Given the description of an element on the screen output the (x, y) to click on. 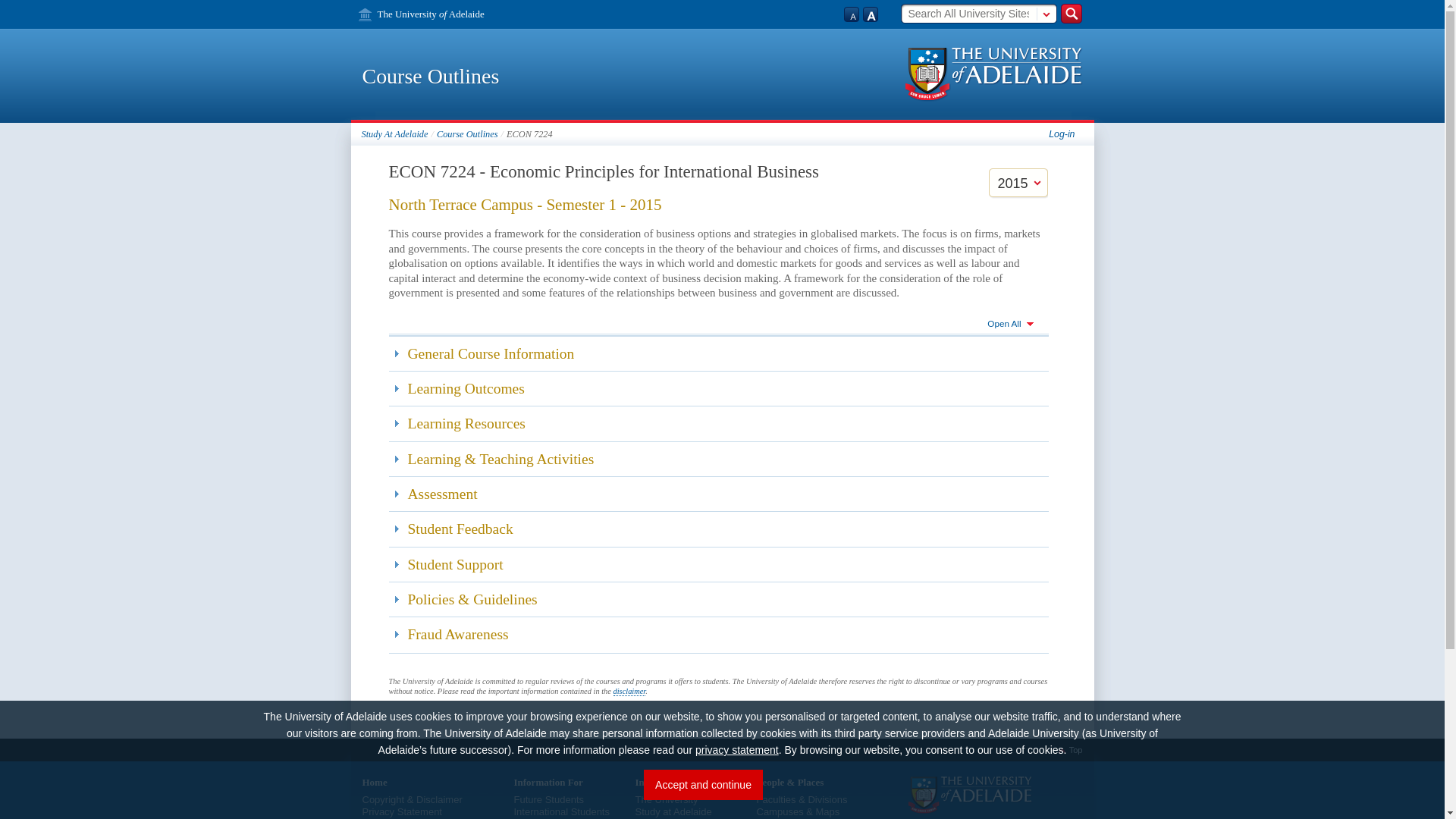
The University of Adelaide (420, 14)
Course Outlines (466, 133)
Copyright Information (383, 799)
Study At Adelaide (394, 133)
The University of Adelaide (420, 14)
Increase Font Size (870, 12)
Search (1071, 12)
Website Disclaimer (439, 799)
Search All University Sites (968, 13)
Learning Resources (718, 423)
Increase Font Size (870, 12)
Login (1061, 133)
Student Feedback (718, 528)
ECON 7224 (529, 133)
Course Outlines (430, 76)
